Given the description of an element on the screen output the (x, y) to click on. 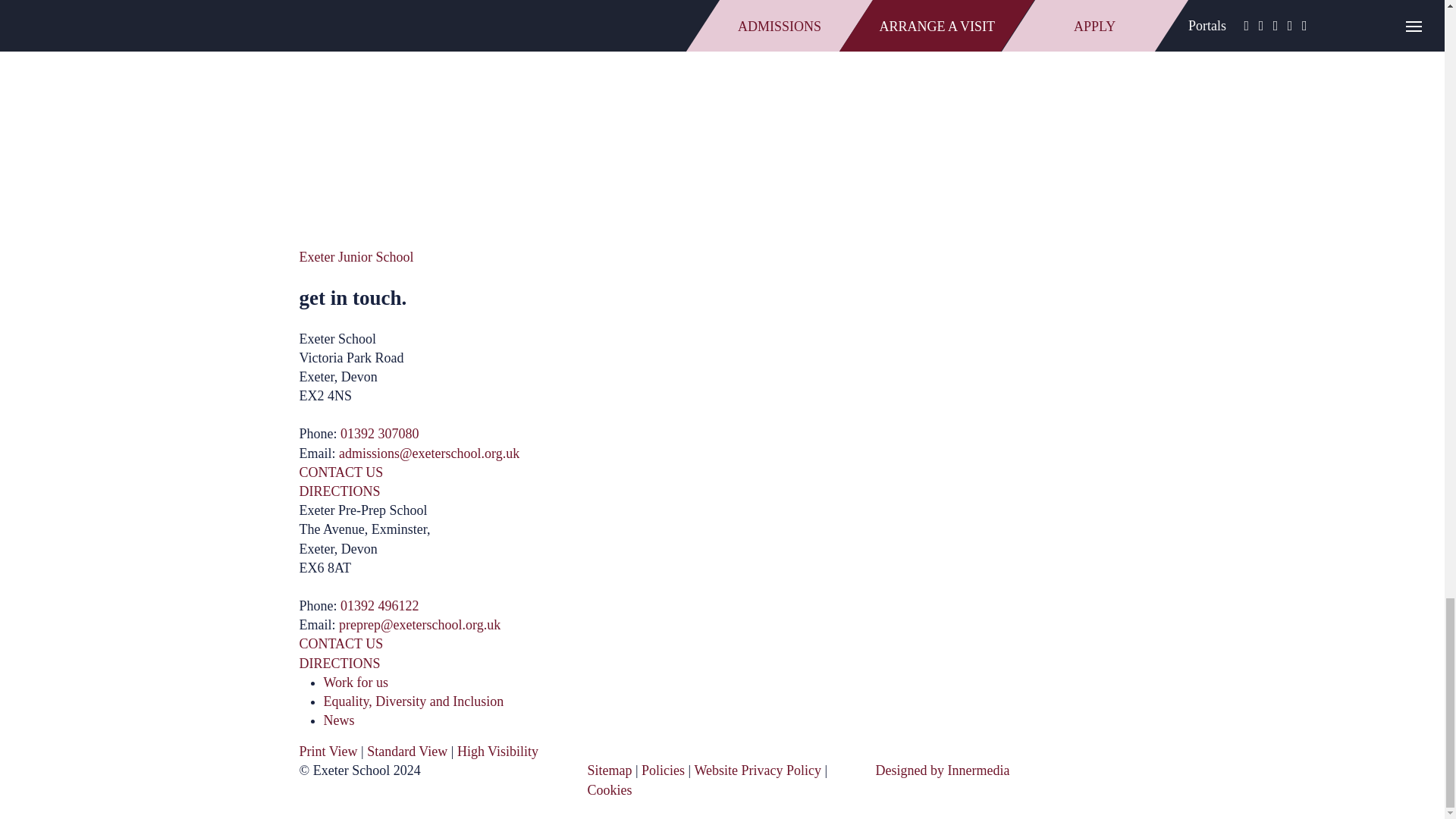
Switch to Standard Visibility (406, 751)
Switch to High Visibility (497, 751)
Switch to Print (327, 751)
